Given the description of an element on the screen output the (x, y) to click on. 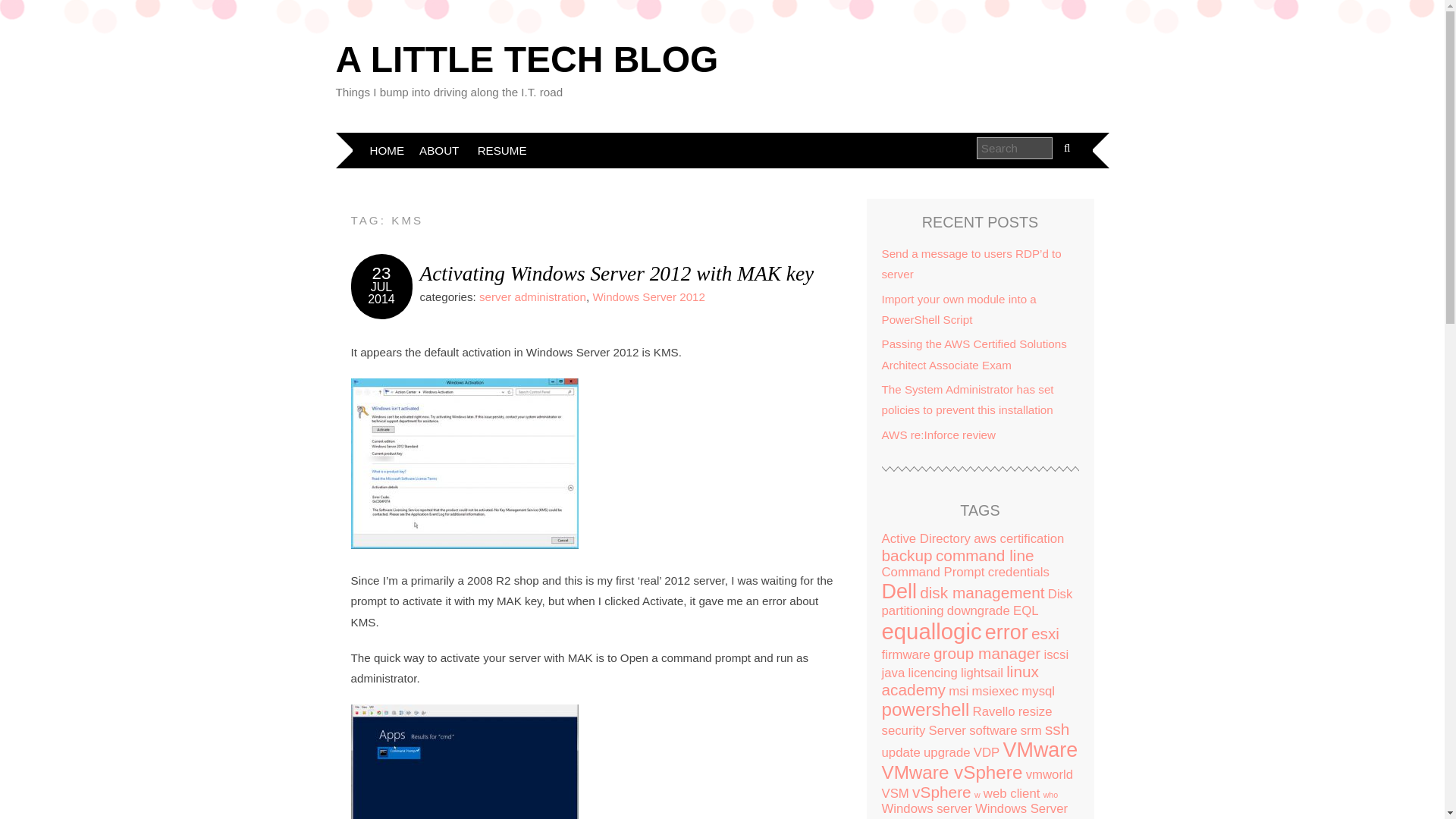
EQL (1026, 610)
server administration (532, 296)
backup (905, 555)
iscsi (1055, 654)
disk management (981, 592)
Dell (897, 590)
error (1006, 631)
AWS re:Inforce review (937, 434)
linux academy (959, 680)
